Given the description of an element on the screen output the (x, y) to click on. 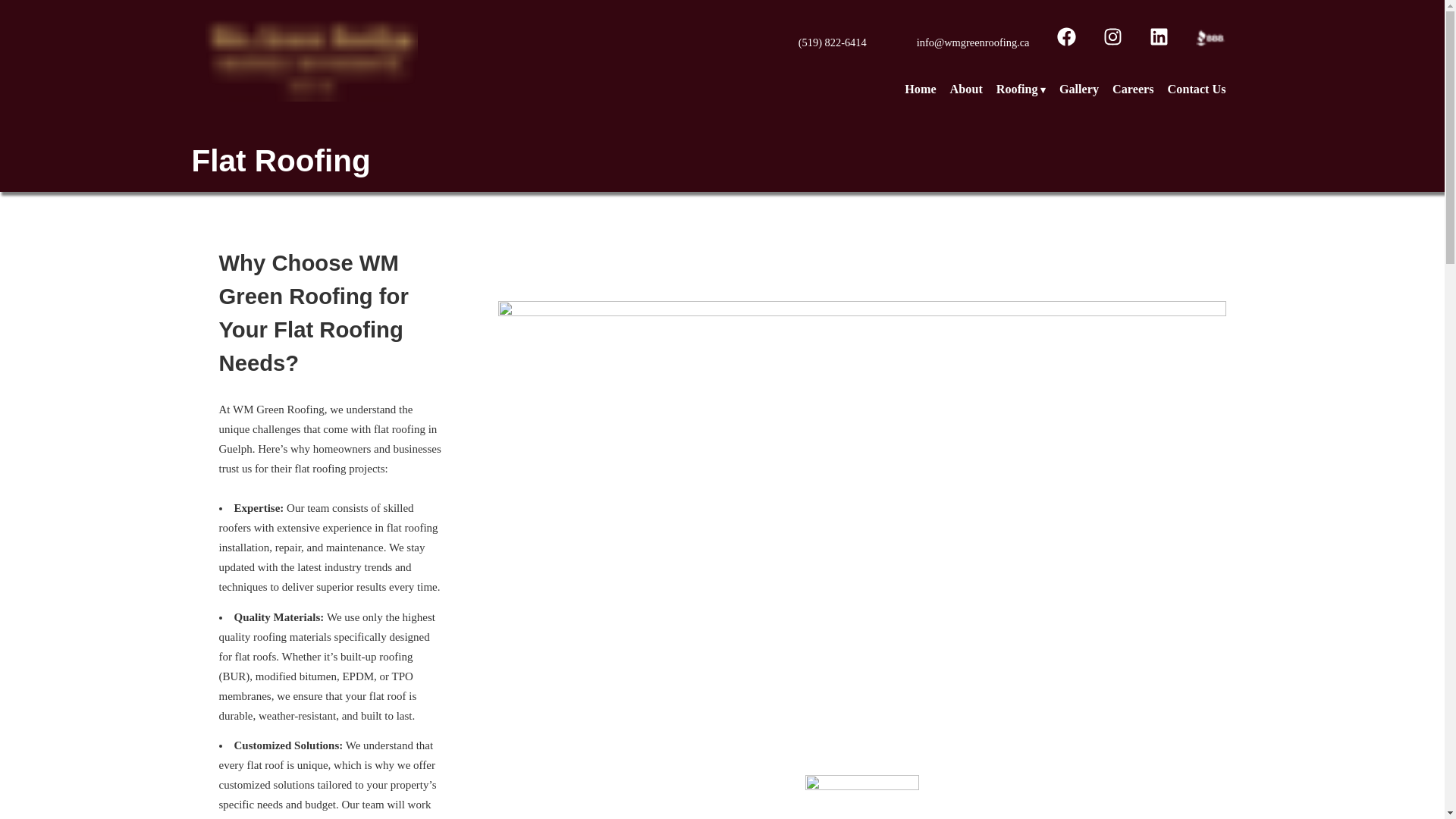
Careers (1133, 94)
Instagram (1111, 42)
Contact Us (1196, 94)
About (966, 94)
Facebook (1066, 42)
phone number (831, 42)
Gallery (1079, 94)
email address (973, 42)
Home (494, 57)
LinkedIn (1159, 42)
